Given the description of an element on the screen output the (x, y) to click on. 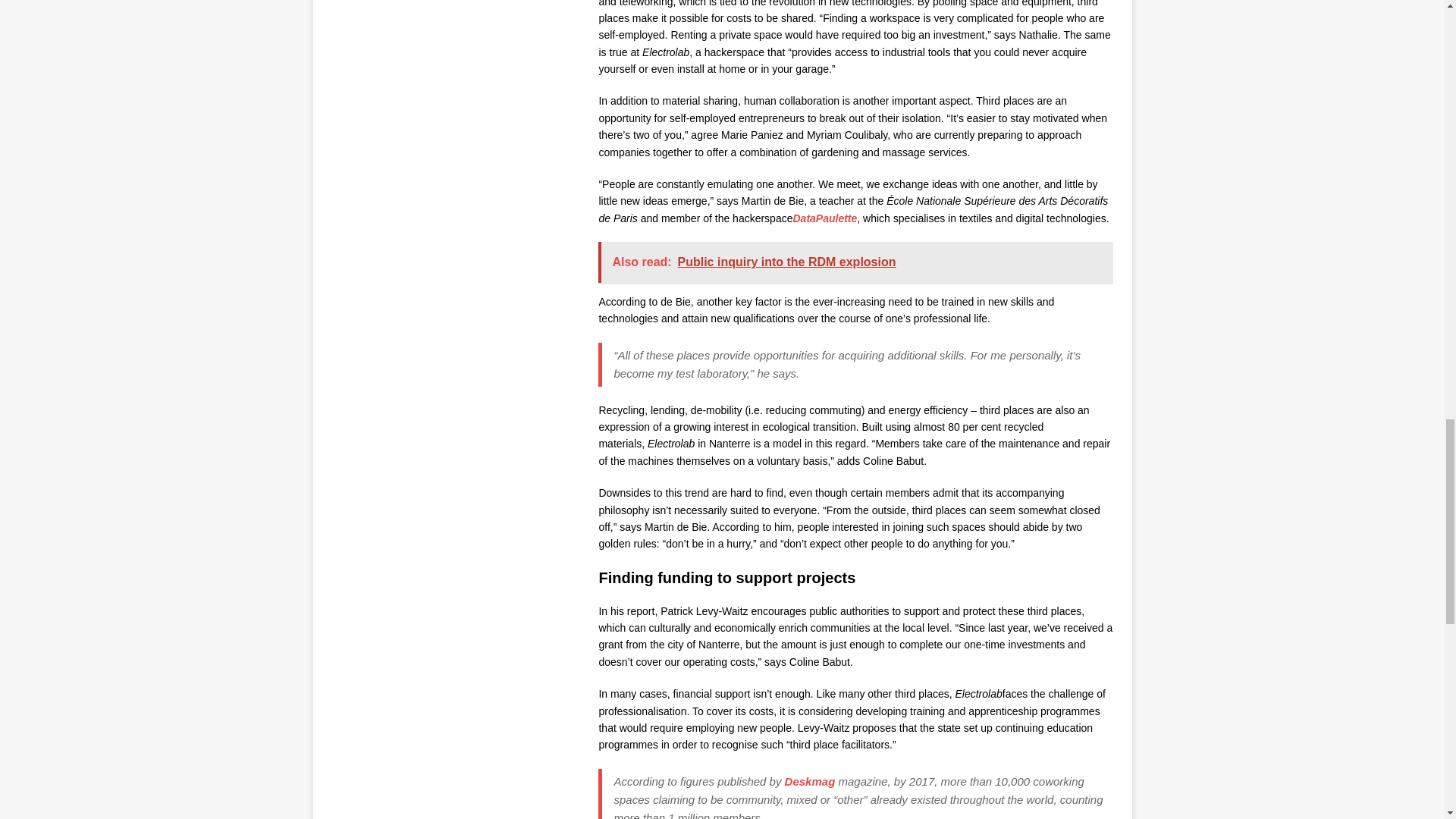
DataPaulette (824, 218)
Also read:  Public inquiry into the RDM explosion (856, 261)
Deskmag (809, 780)
